Given the description of an element on the screen output the (x, y) to click on. 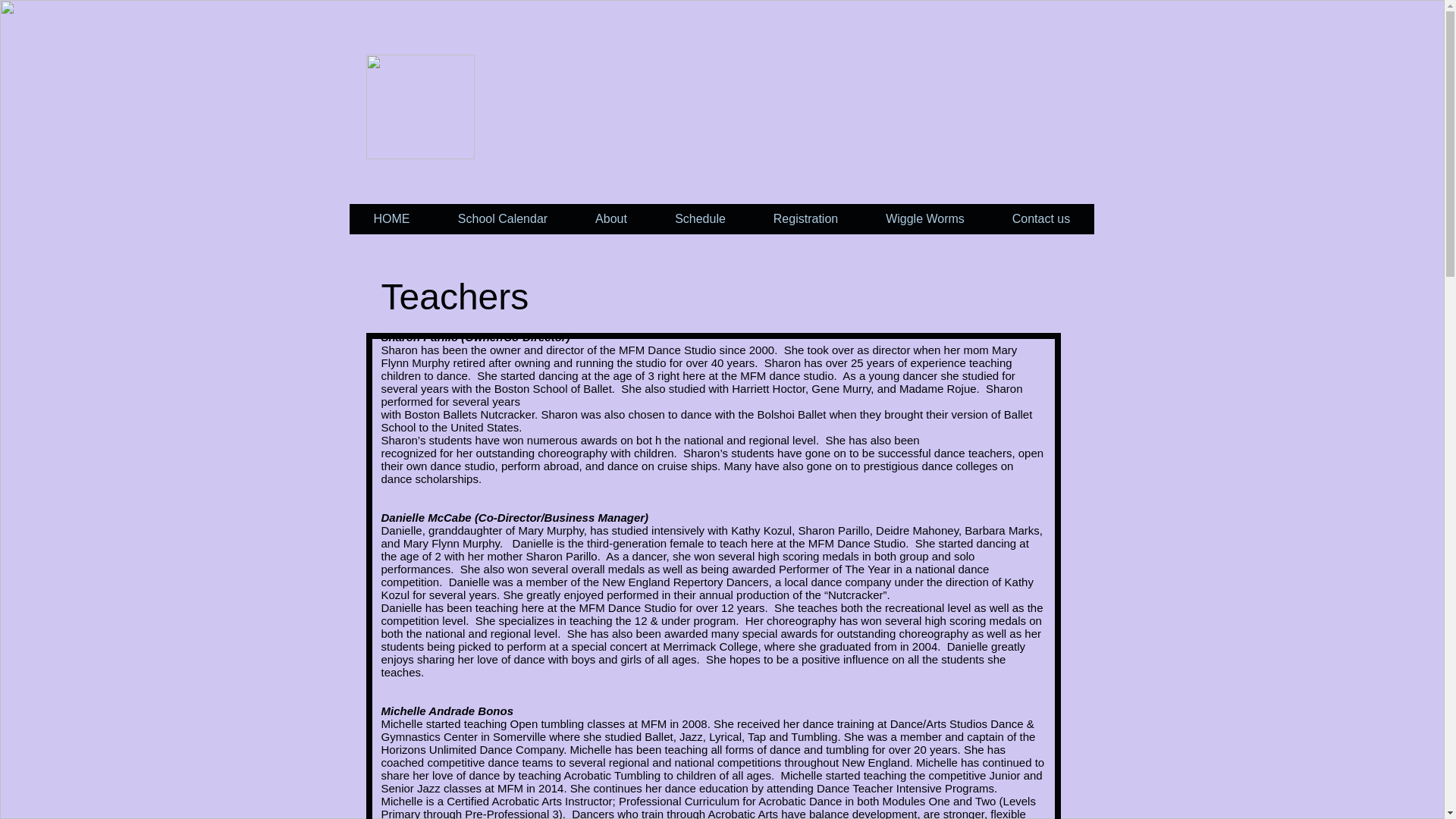
HOME (391, 218)
School Calendar (502, 218)
Wiggle Worms (925, 218)
Registration (805, 218)
Contact us (1040, 218)
Schedule (699, 218)
